Given the description of an element on the screen output the (x, y) to click on. 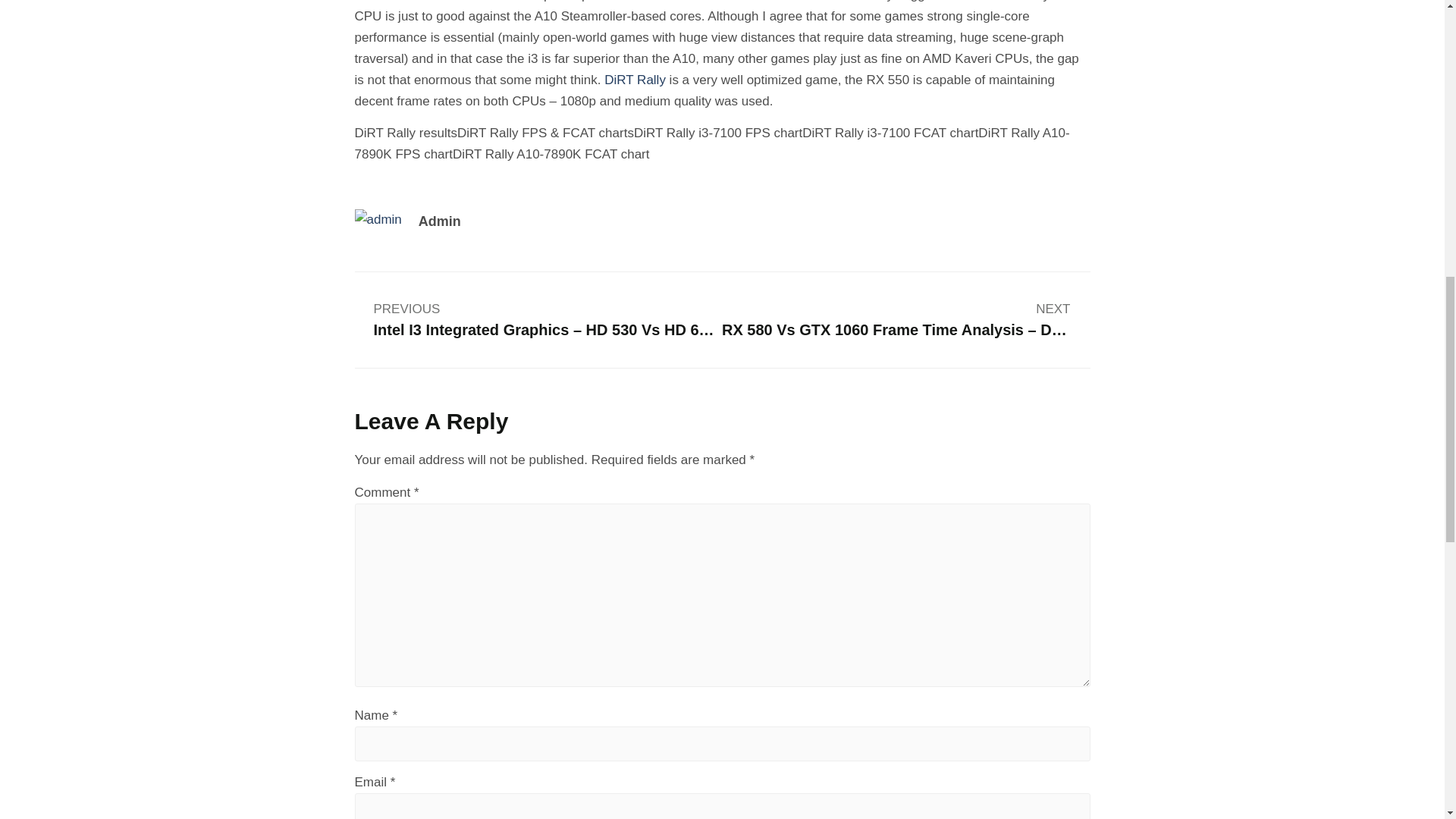
DiRT Rally (634, 79)
Admin (605, 221)
